Given the description of an element on the screen output the (x, y) to click on. 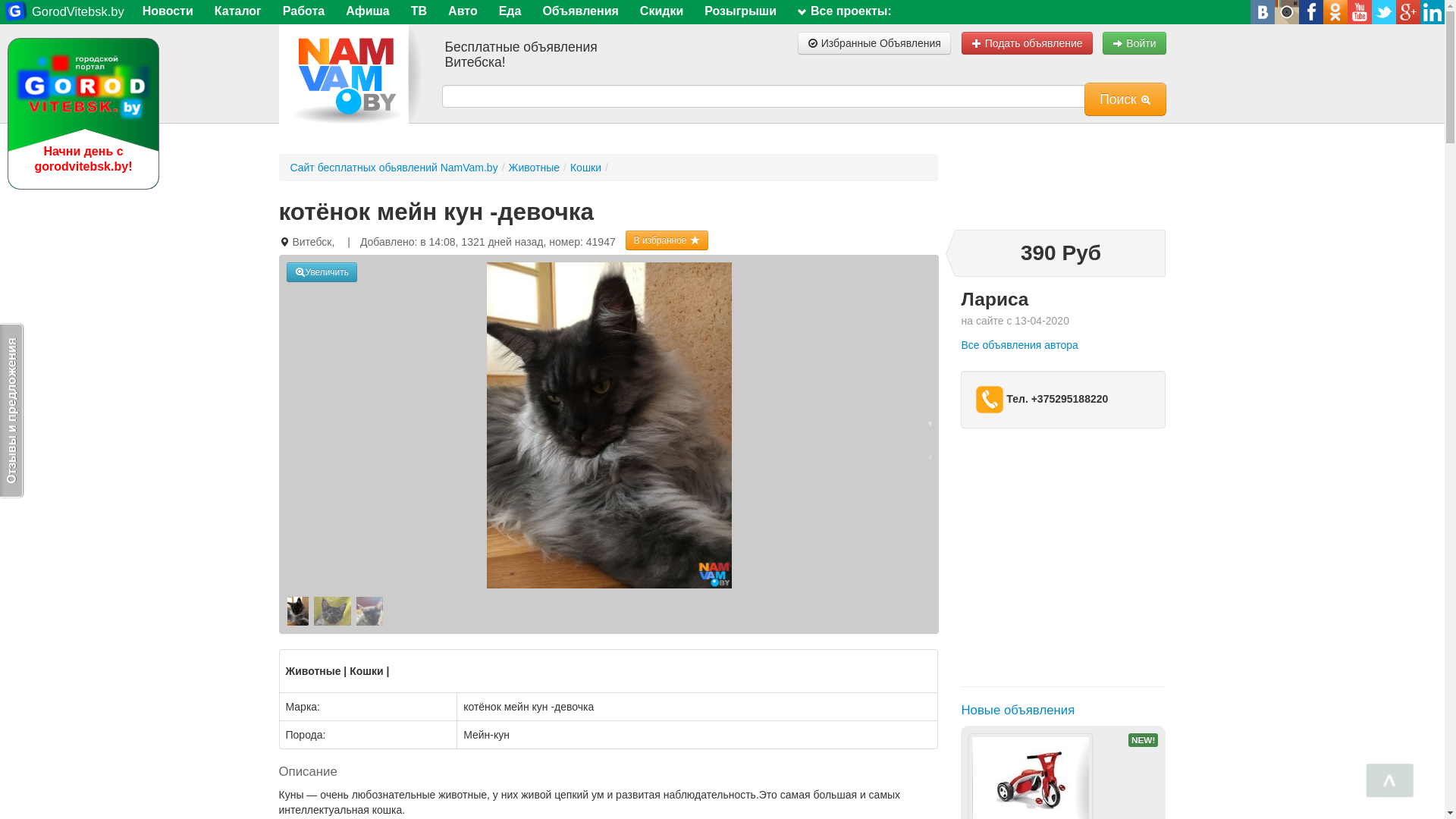
GorodVitebsk.by Element type: text (63, 11)
